Given the description of an element on the screen output the (x, y) to click on. 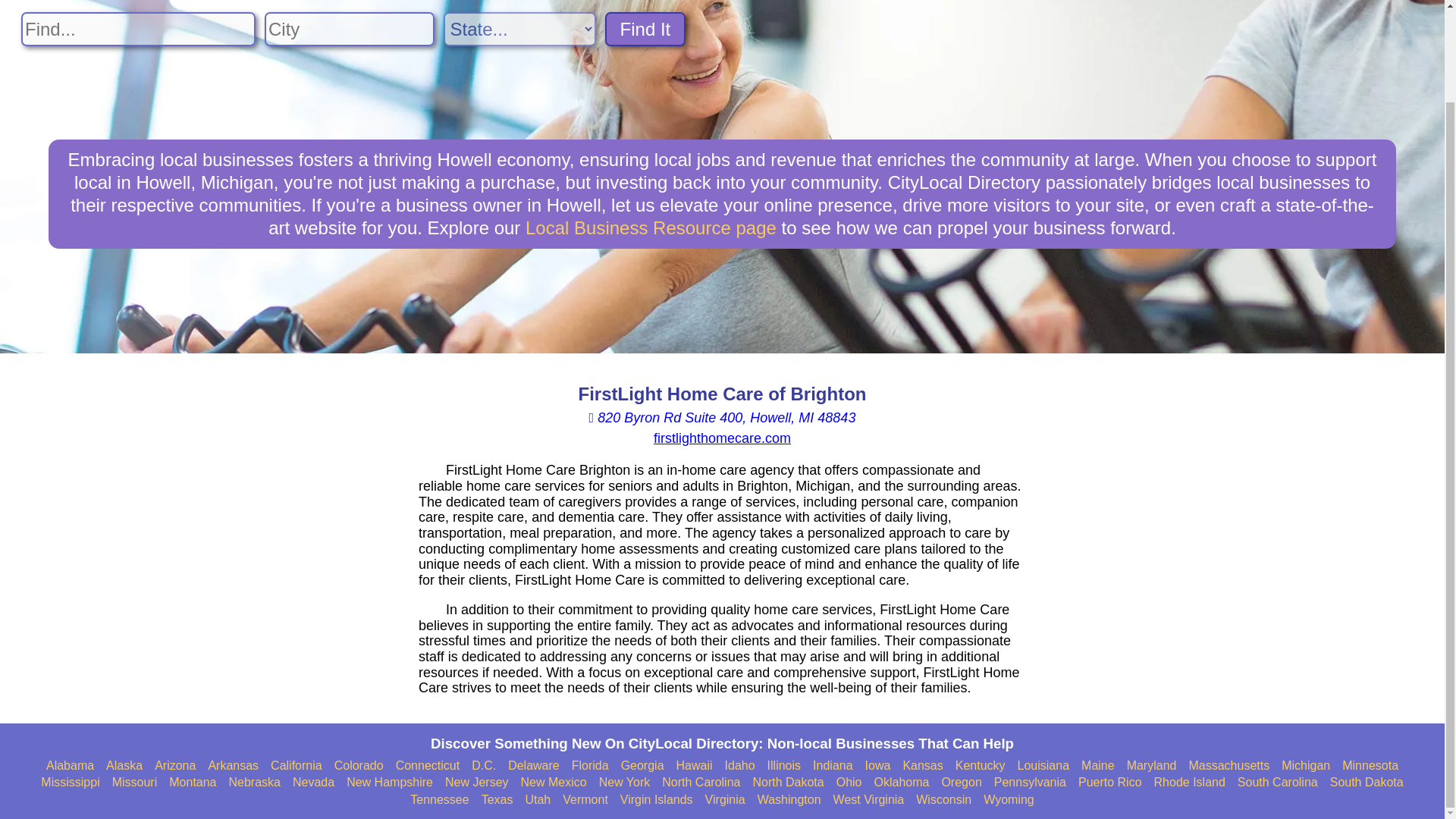
Maryland (1151, 766)
Colorado (359, 766)
View on Google Maps (721, 417)
Iowa (877, 766)
Arizona (174, 766)
Find Businesses in Alaska (124, 766)
Find Businesses in California (295, 766)
Minnesota (1369, 766)
Missouri (134, 782)
Find Businesses in D.C. (483, 766)
Find Businesses in Delaware (533, 766)
Florida (590, 766)
Alaska (124, 766)
Find Businesses in Arkansas (233, 766)
firstlighthomecare.com (721, 437)
